Given the description of an element on the screen output the (x, y) to click on. 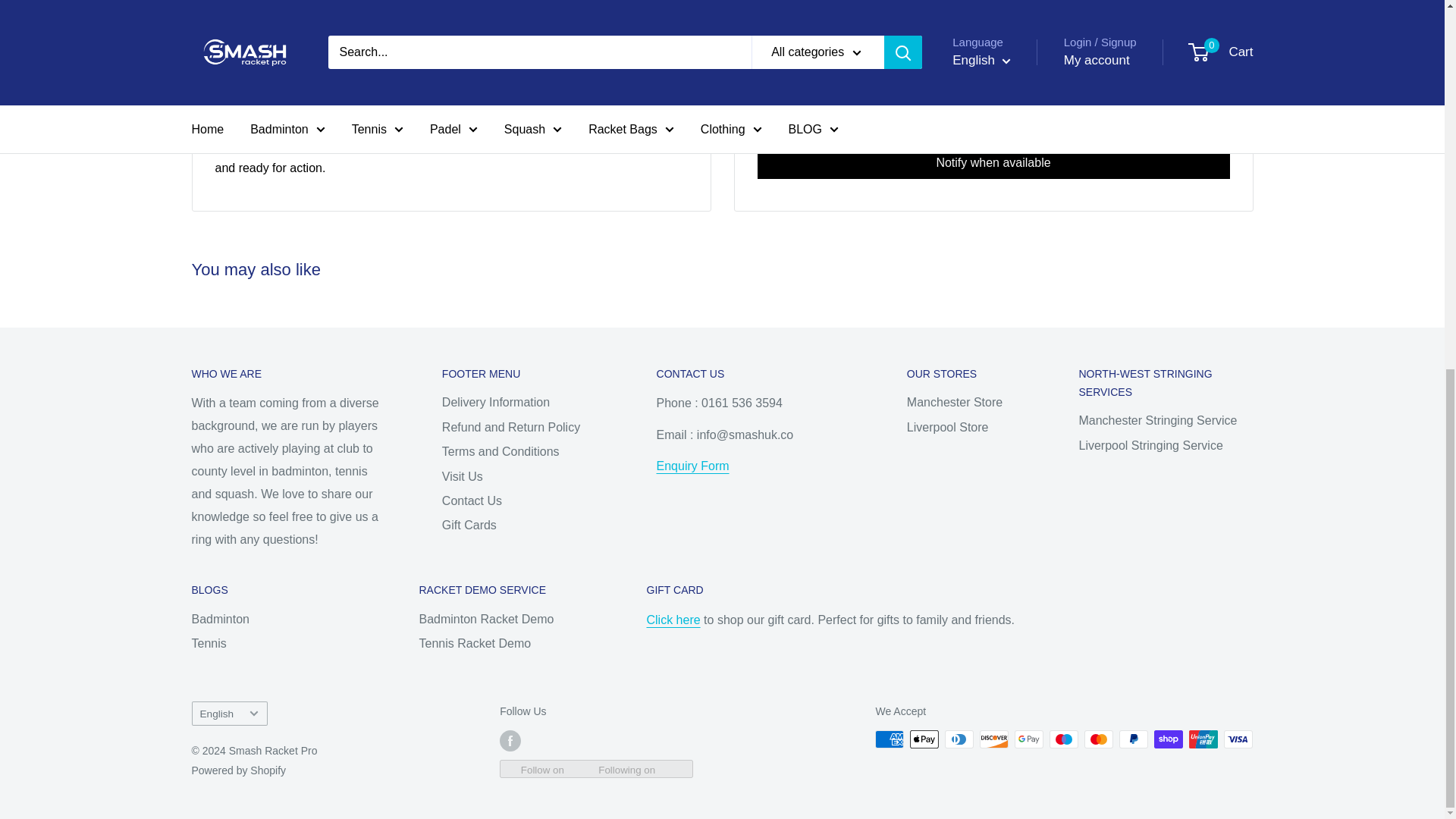
Contact Us (692, 465)
